Given the description of an element on the screen output the (x, y) to click on. 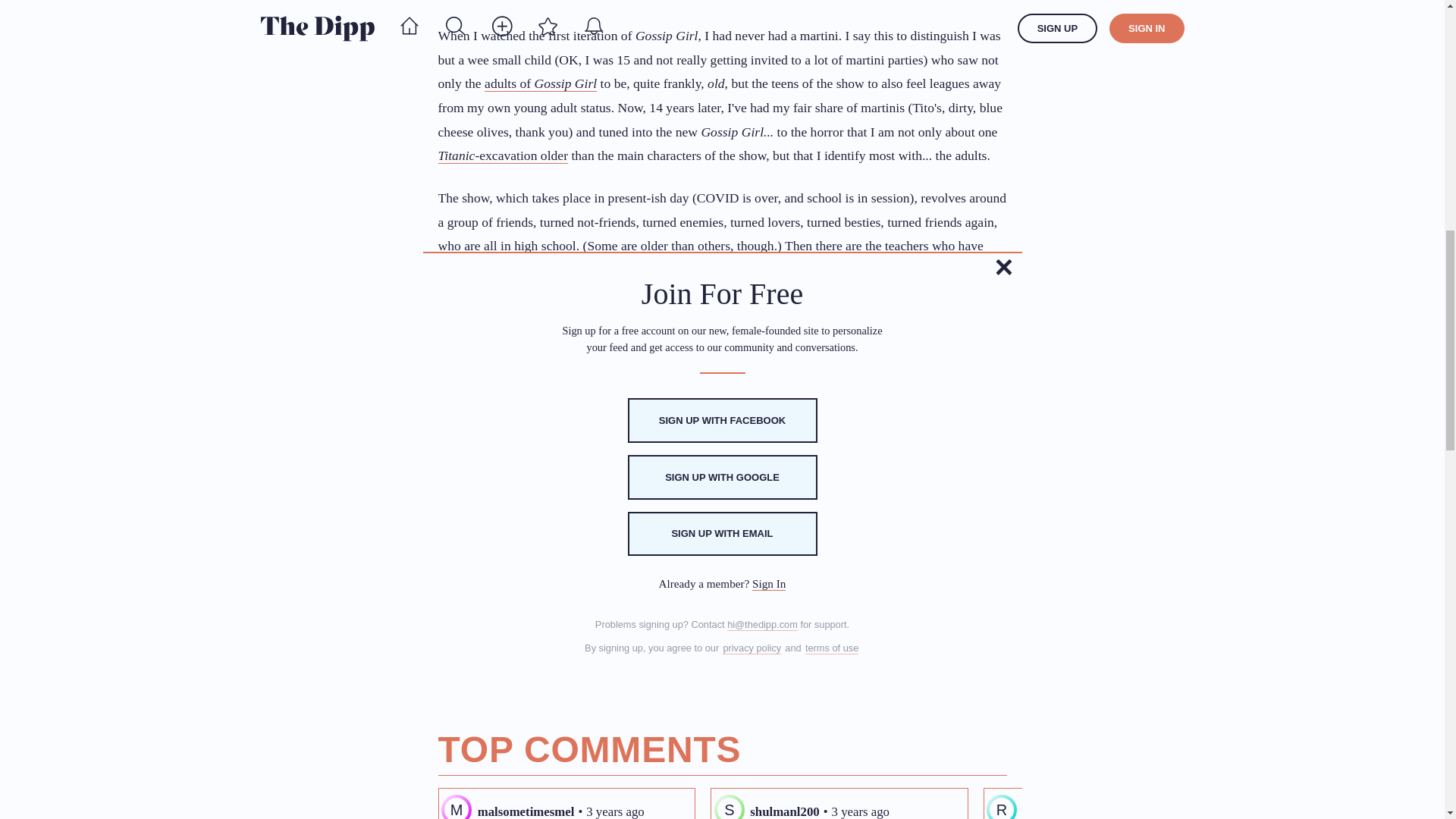
shulmanl200 (783, 809)
SIGN UP WITH FACEBOOK (721, 420)
R (1001, 807)
Sign In (769, 583)
SIGN UP WITH EMAIL (721, 533)
Titanic-excavation older (503, 155)
privacy policy (751, 648)
SIGN UP WITH GOOGLE (721, 477)
malsometimesmel (526, 809)
3 years ago (614, 809)
